Given the description of an element on the screen output the (x, y) to click on. 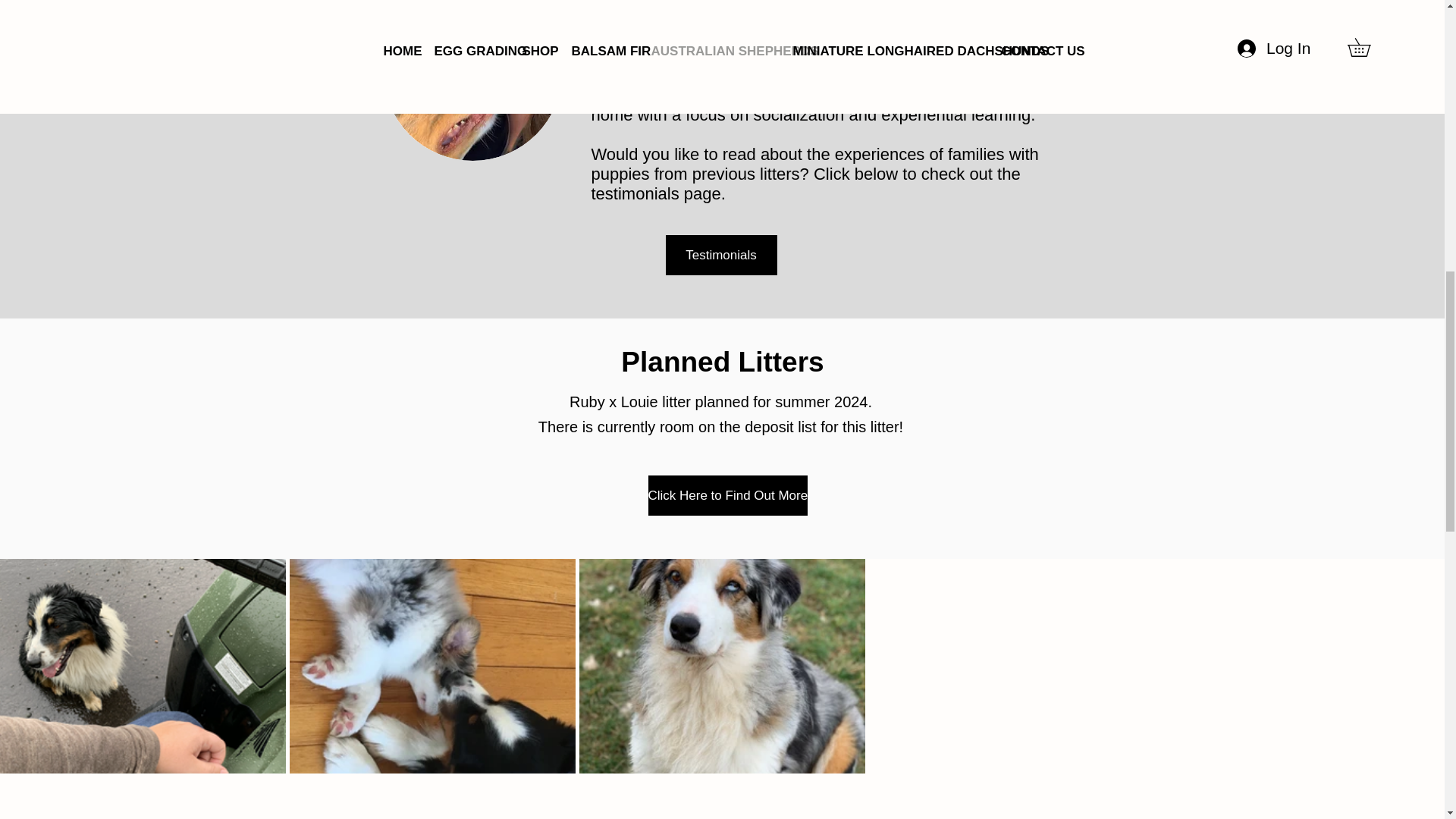
Click Here to Find Out More (727, 495)
Testimonials (721, 255)
GettyImages-535587703.jpg (471, 80)
